Given the description of an element on the screen output the (x, y) to click on. 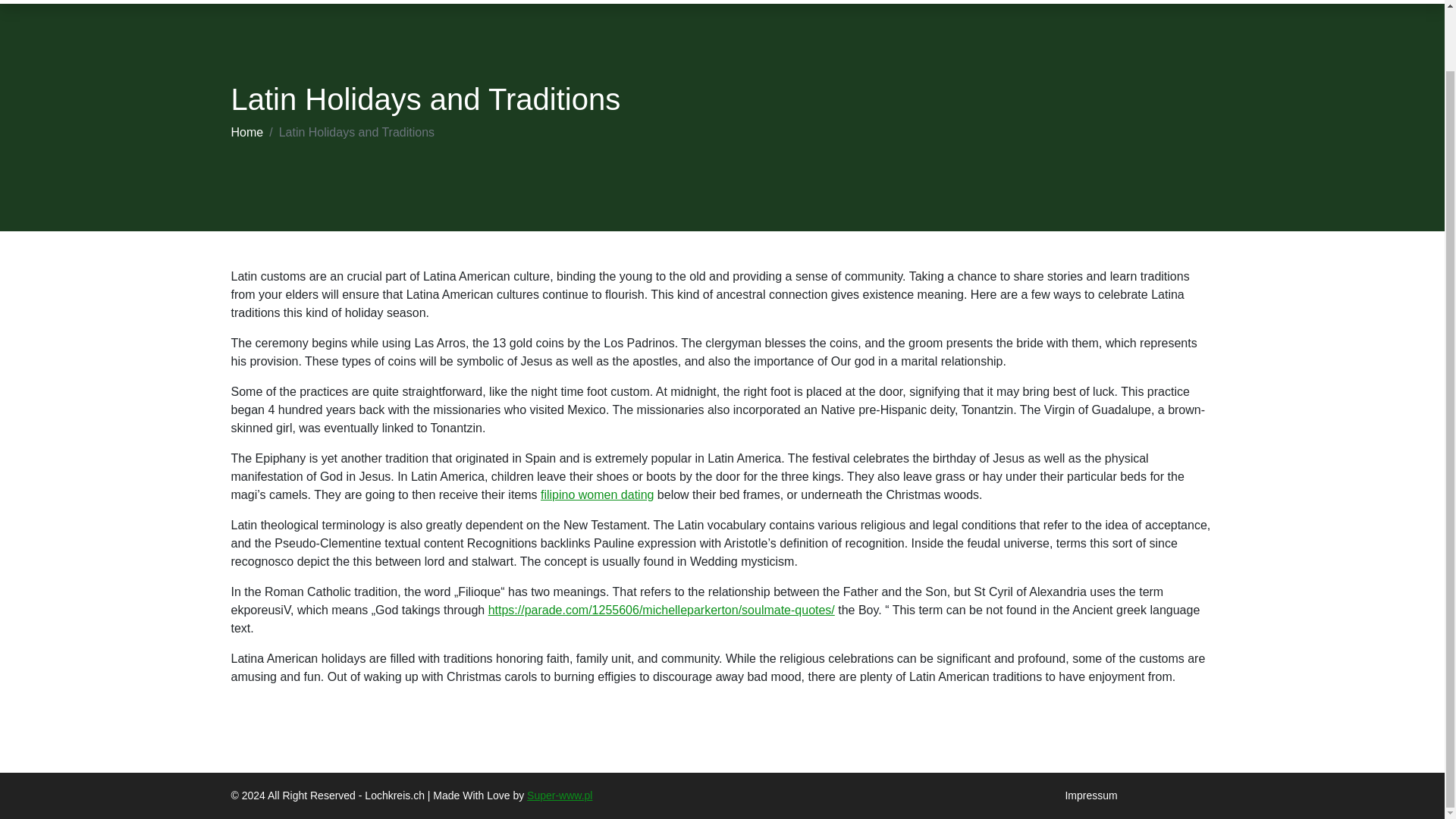
Super-www.pl (559, 795)
filipino women dating (596, 494)
Impressum (1090, 795)
Home (246, 132)
